Given the description of an element on the screen output the (x, y) to click on. 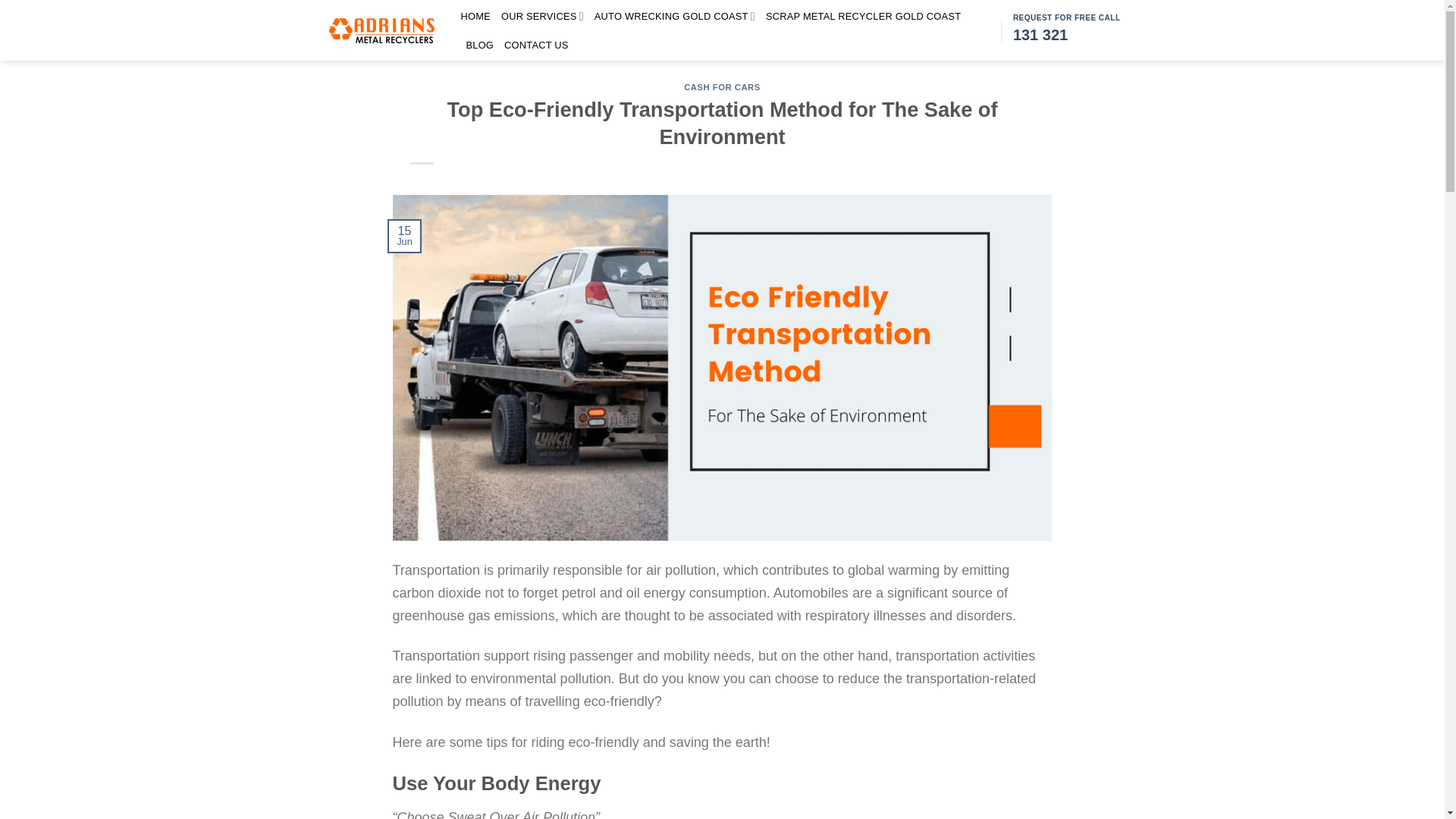
Adrians Cash for Cars Gold Coast - Cash for Cars Gold Coast (381, 30)
BLOG (479, 44)
HOME (475, 16)
OUR SERVICES (541, 16)
Gold Coast Cash Services (541, 16)
SCRAP METAL RECYCLER GOLD COAST (862, 16)
CASH FOR CARS (722, 86)
Cash For Cars Gold Coast (475, 16)
CONTACT US (536, 44)
